Given the description of an element on the screen output the (x, y) to click on. 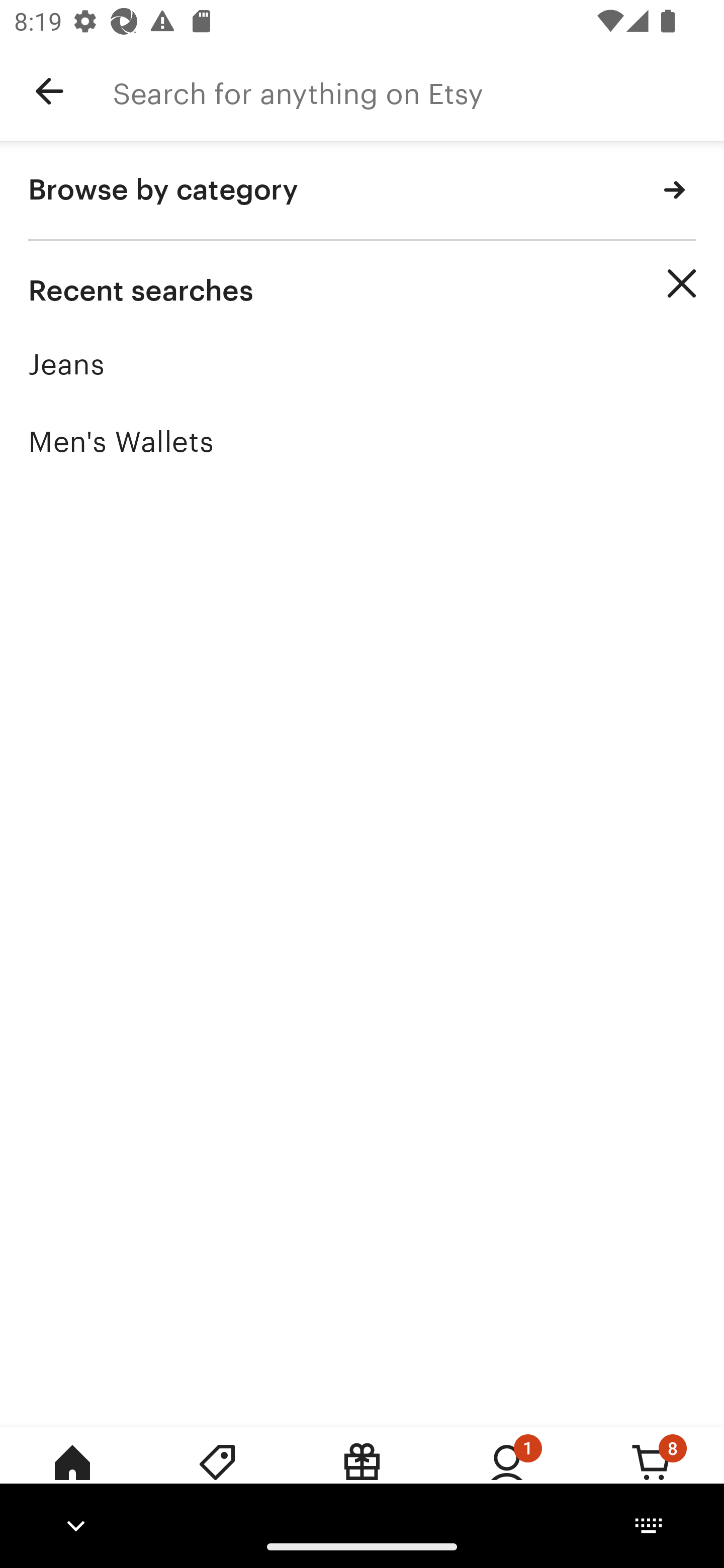
Navigate up (49, 91)
Search for anything on Etsy (418, 91)
Browse by category (362, 191)
Clear (681, 283)
Jeans (362, 364)
Men's Wallets (362, 440)
Deals (216, 1475)
Gift Mode (361, 1475)
You, 1 new notification (506, 1475)
Cart, 8 new notifications (651, 1475)
